Given the description of an element on the screen output the (x, y) to click on. 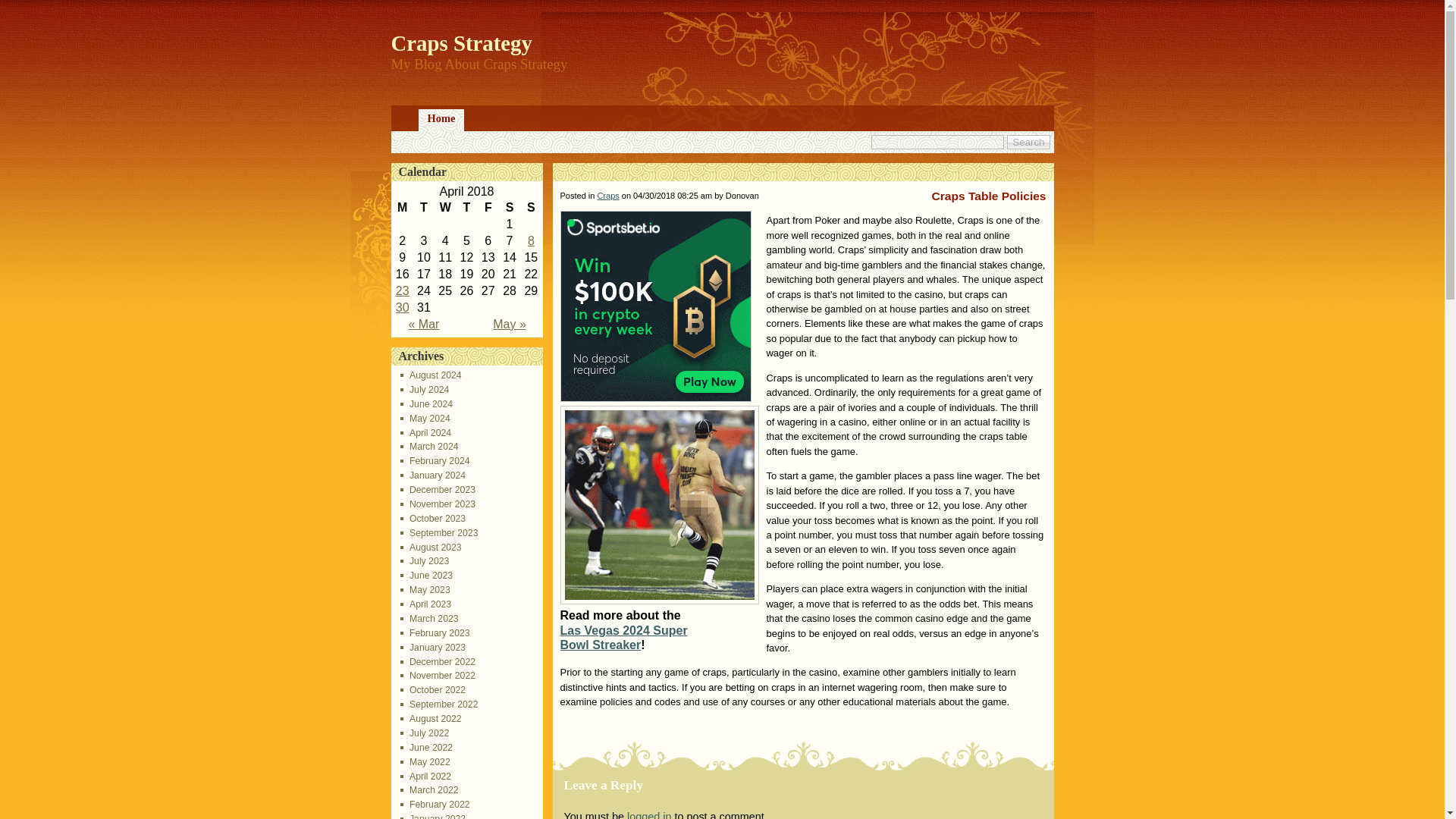
August 2024 (430, 375)
January 2023 (432, 647)
Monday (402, 207)
February 2024 (435, 460)
May 2024 (424, 418)
23 (402, 290)
March 2022 (429, 789)
February 2023 (435, 633)
Search (1028, 142)
Home (441, 119)
November 2023 (438, 503)
View posts for May 2018 (509, 323)
Craps Strategy (461, 43)
January 2024 (432, 475)
Sunday (530, 207)
